Given the description of an element on the screen output the (x, y) to click on. 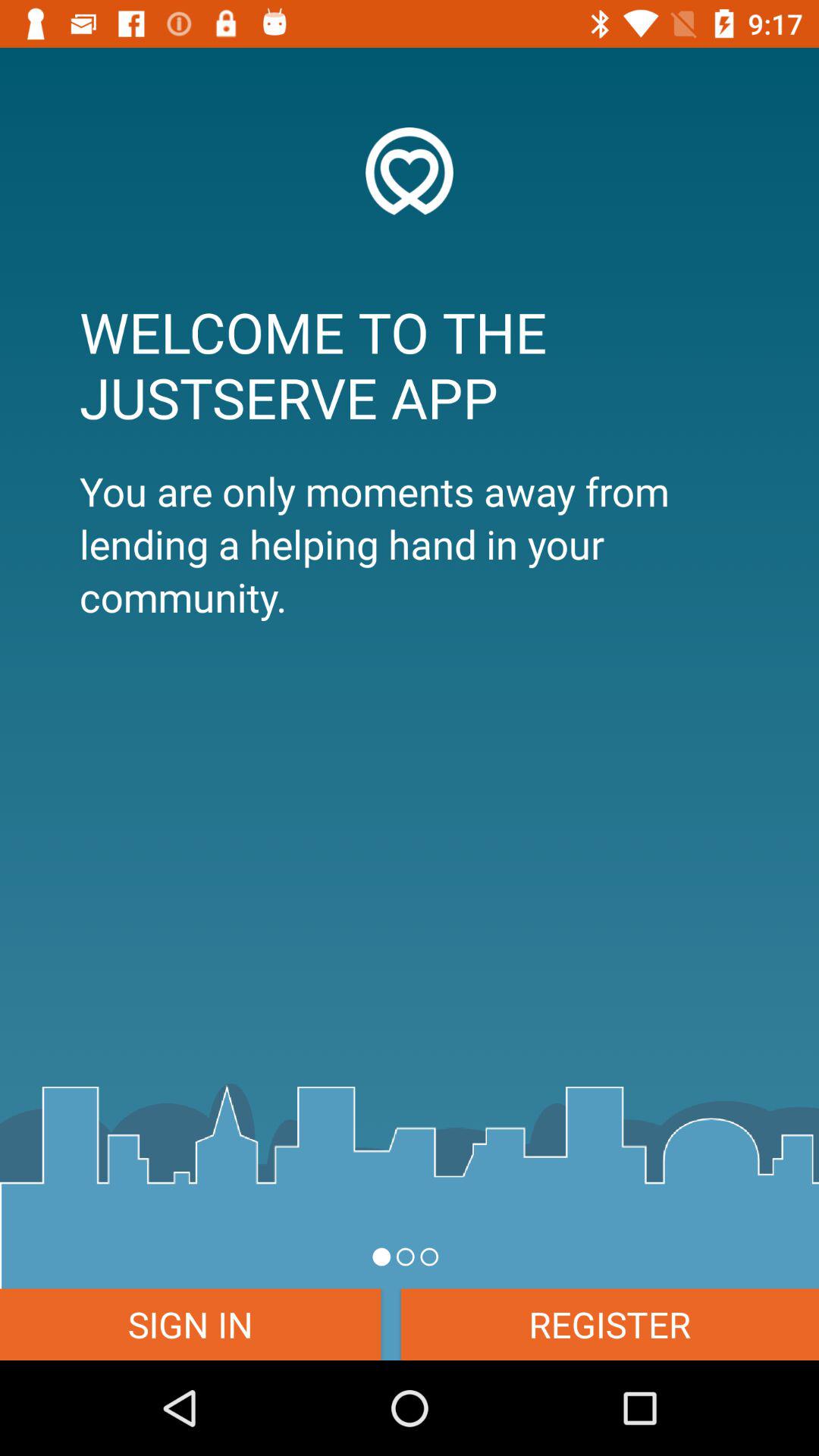
turn off icon to the left of register (190, 1324)
